Given the description of an element on the screen output the (x, y) to click on. 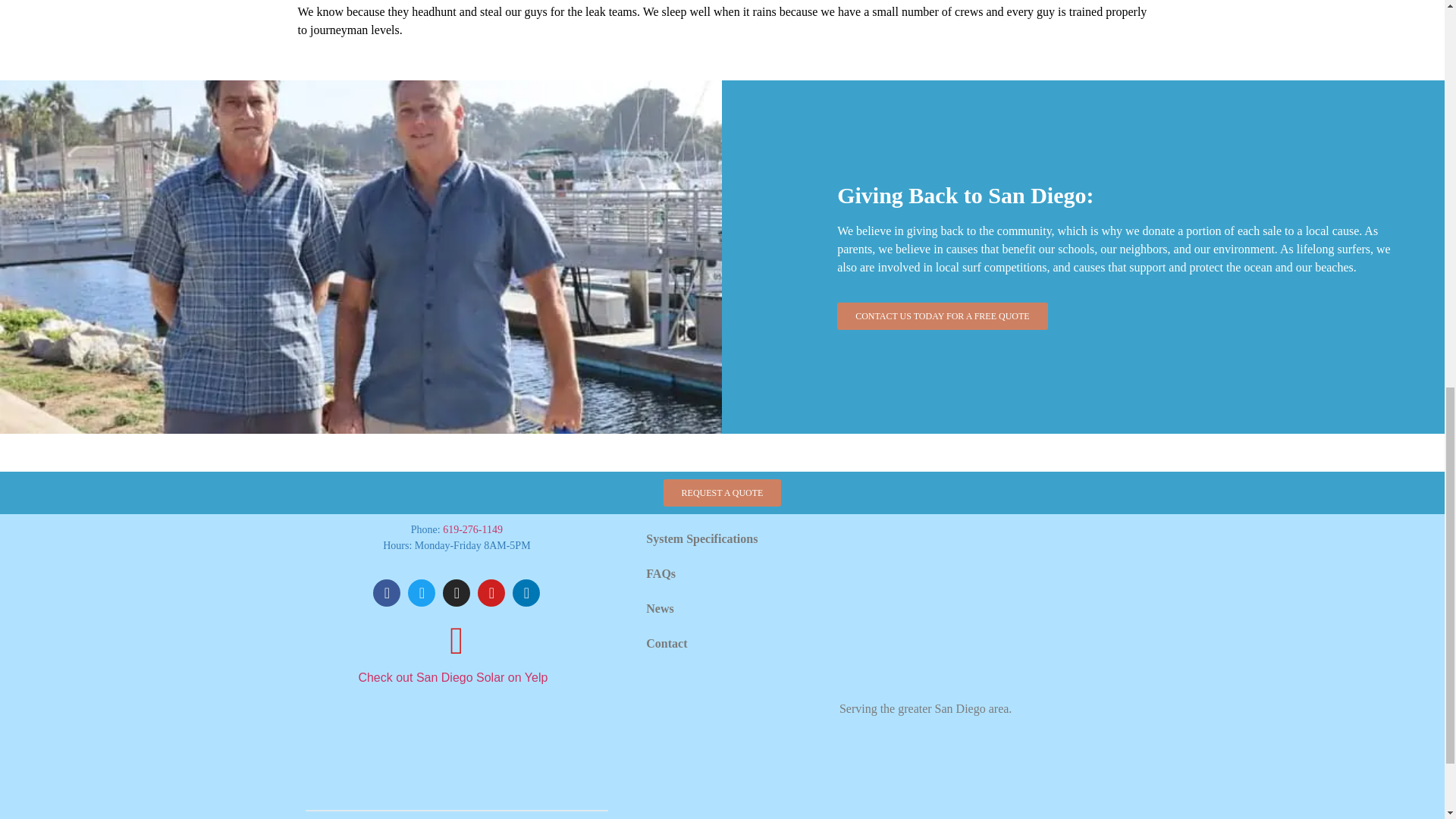
CONTACT US TODAY FOR A FREE QUOTE (942, 316)
San Diego , California (993, 602)
REQUEST A QUOTE (722, 492)
